Given the description of an element on the screen output the (x, y) to click on. 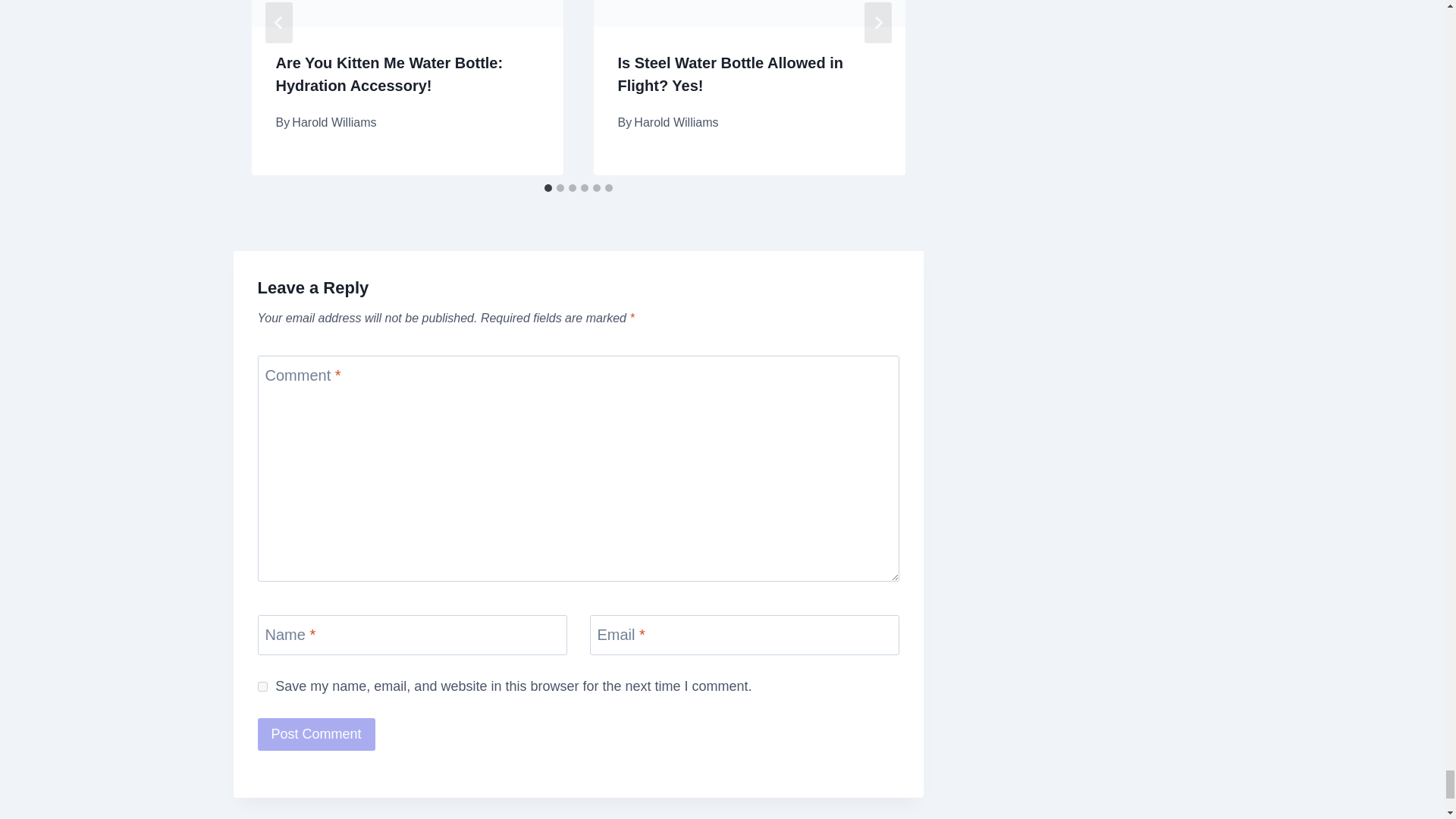
Post Comment (316, 734)
yes (262, 686)
